Given the description of an element on the screen output the (x, y) to click on. 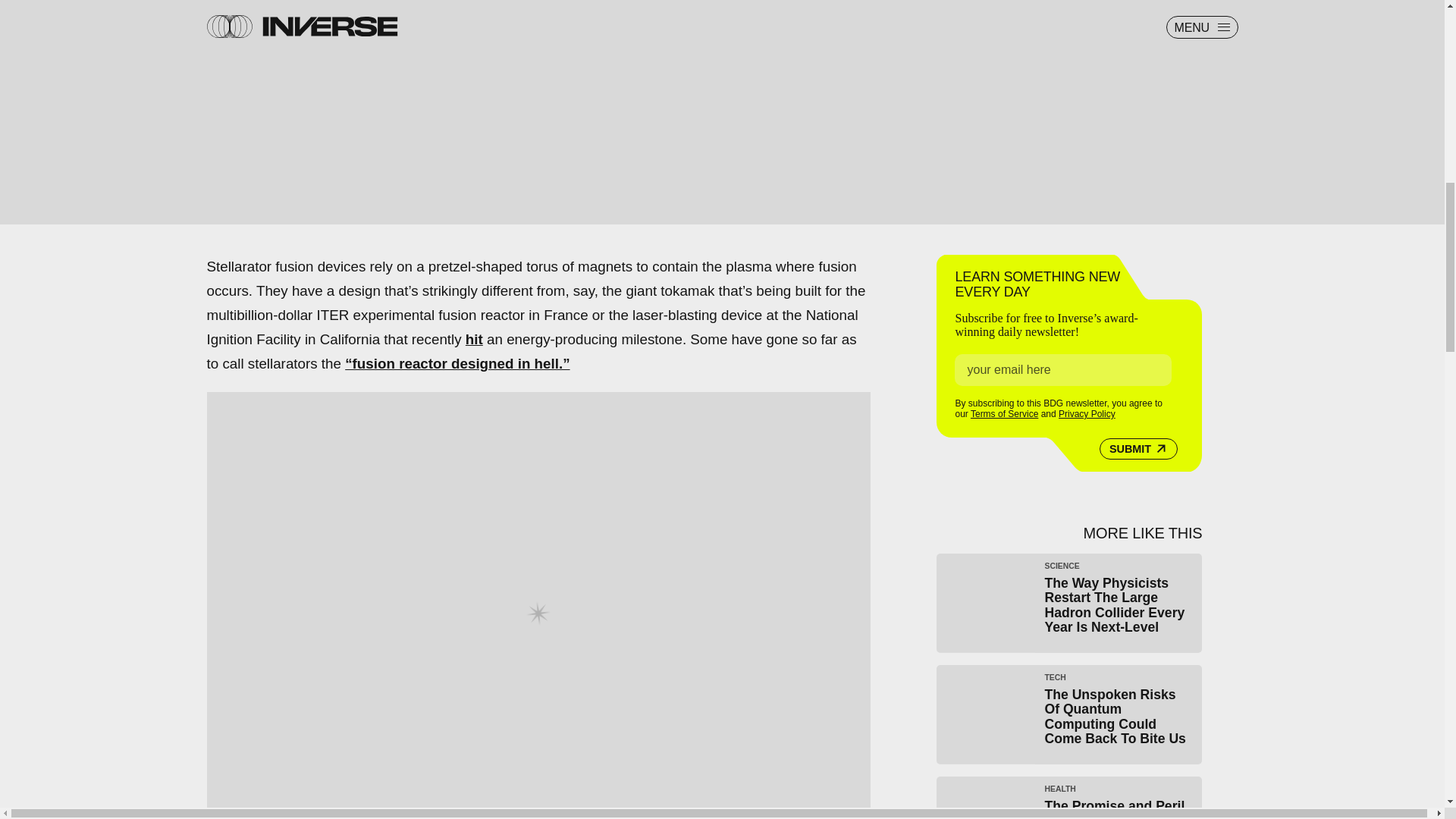
Terms of Service (1004, 413)
SUBMIT (1138, 448)
Privacy Policy (1086, 413)
hit (474, 339)
